Given the description of an element on the screen output the (x, y) to click on. 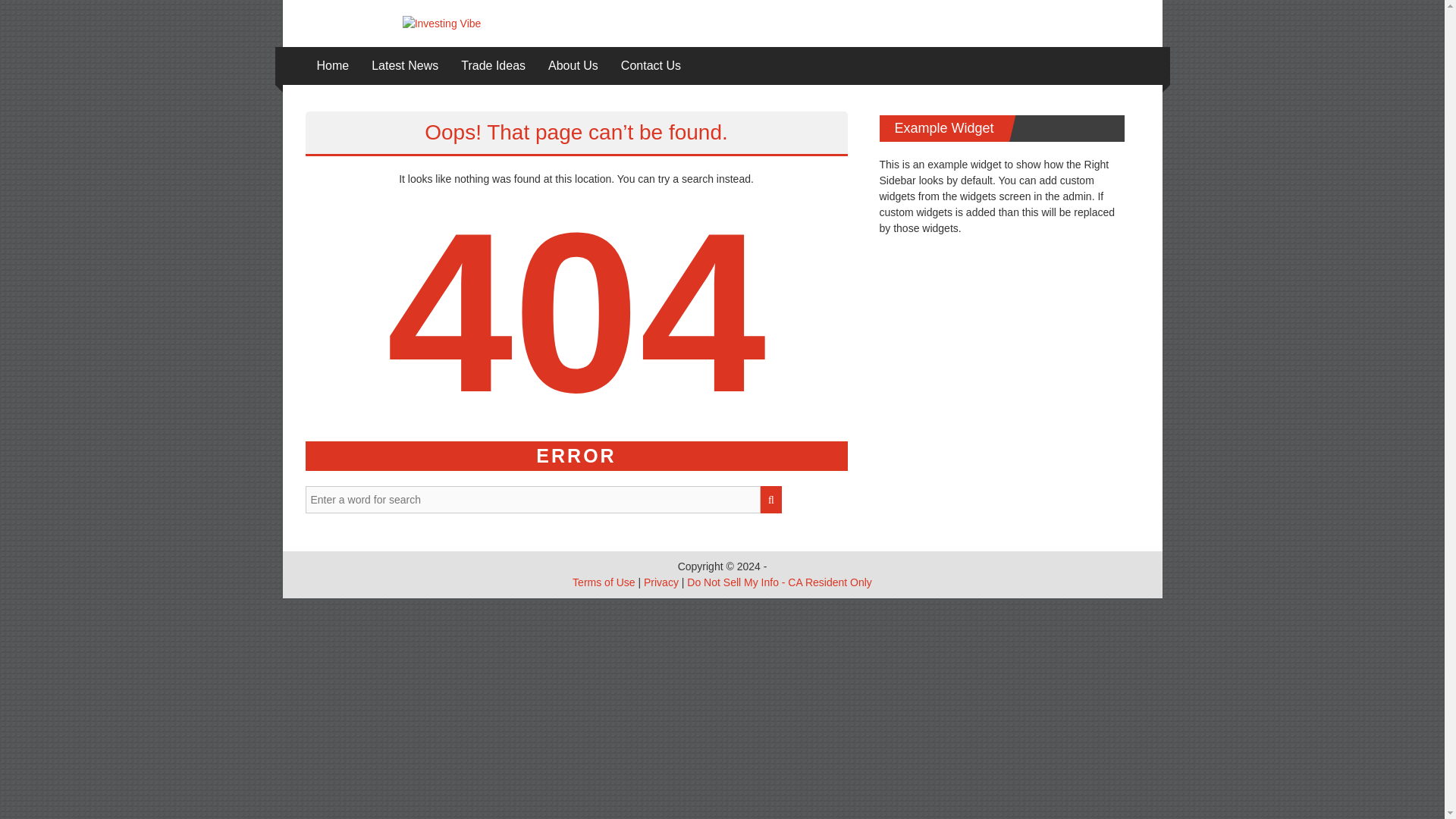
Trade Ideas (493, 65)
Privacy (660, 582)
About Us (573, 65)
Contact Us (651, 65)
Do Not Sell My Info - CA Resident Only (779, 582)
Latest News (404, 65)
Terms of Use (603, 582)
